Given the description of an element on the screen output the (x, y) to click on. 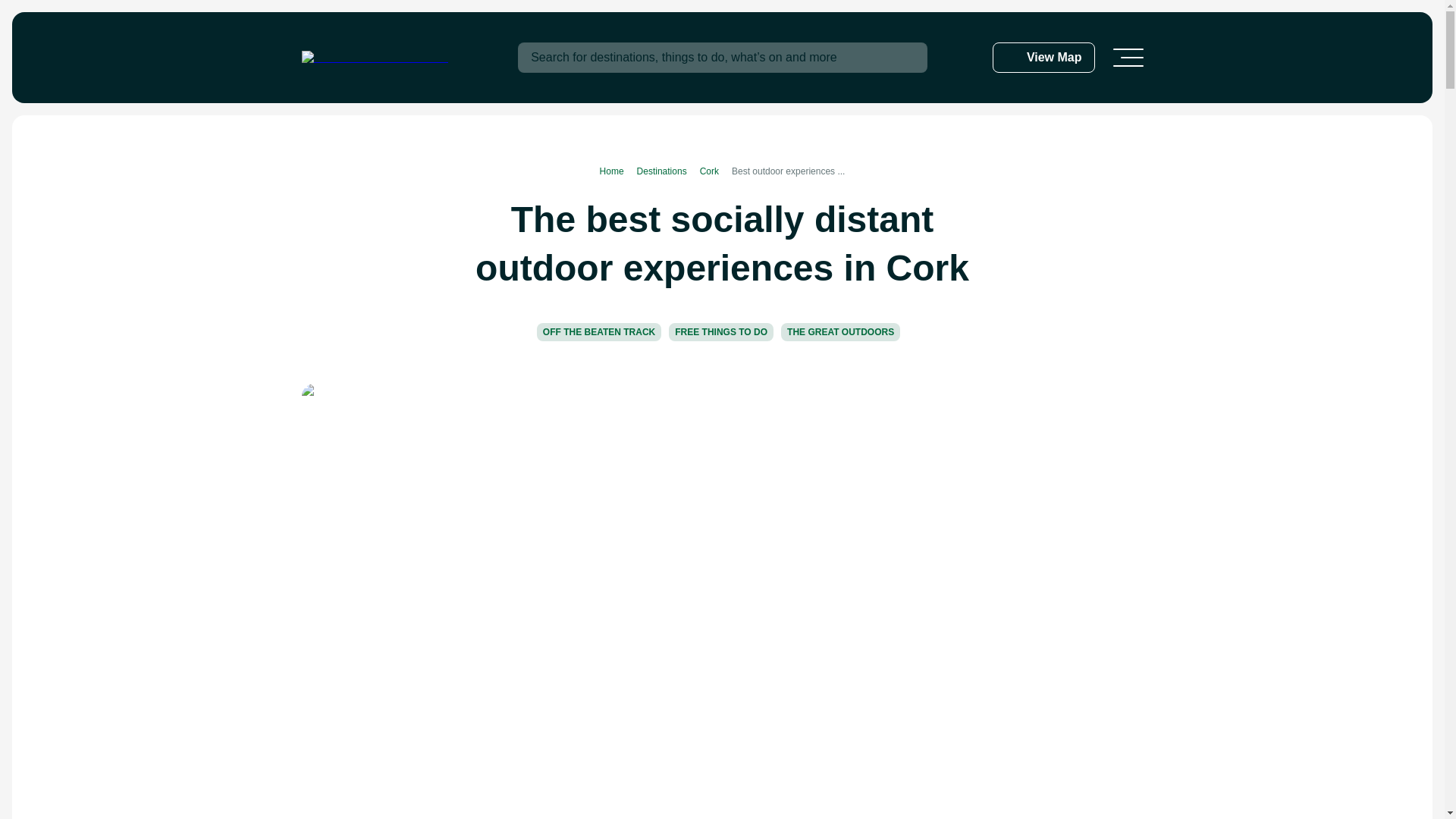
FREE THINGS TO DO (720, 331)
View Map (1043, 57)
THE GREAT OUTDOORS (839, 331)
OFF THE BEATEN TRACKFREE THINGS TO DOTHE GREAT OUTDOORS (722, 336)
OFF THE BEATEN TRACK (599, 331)
Destinations (668, 171)
Home (618, 171)
Cork (716, 171)
Click to go back to the homepage (374, 57)
